Given the description of an element on the screen output the (x, y) to click on. 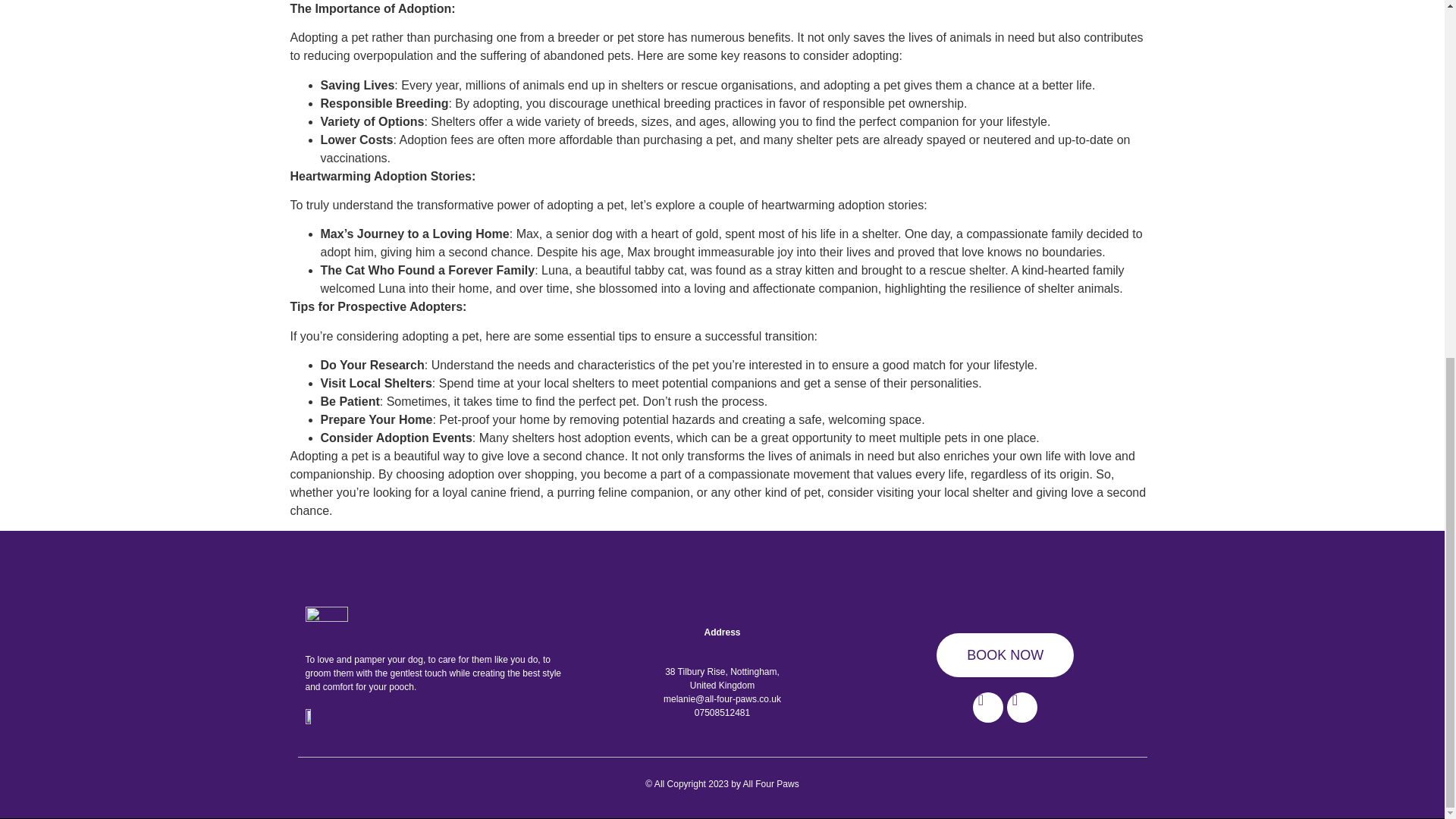
BOOK NOW (1005, 655)
